Given the description of an element on the screen output the (x, y) to click on. 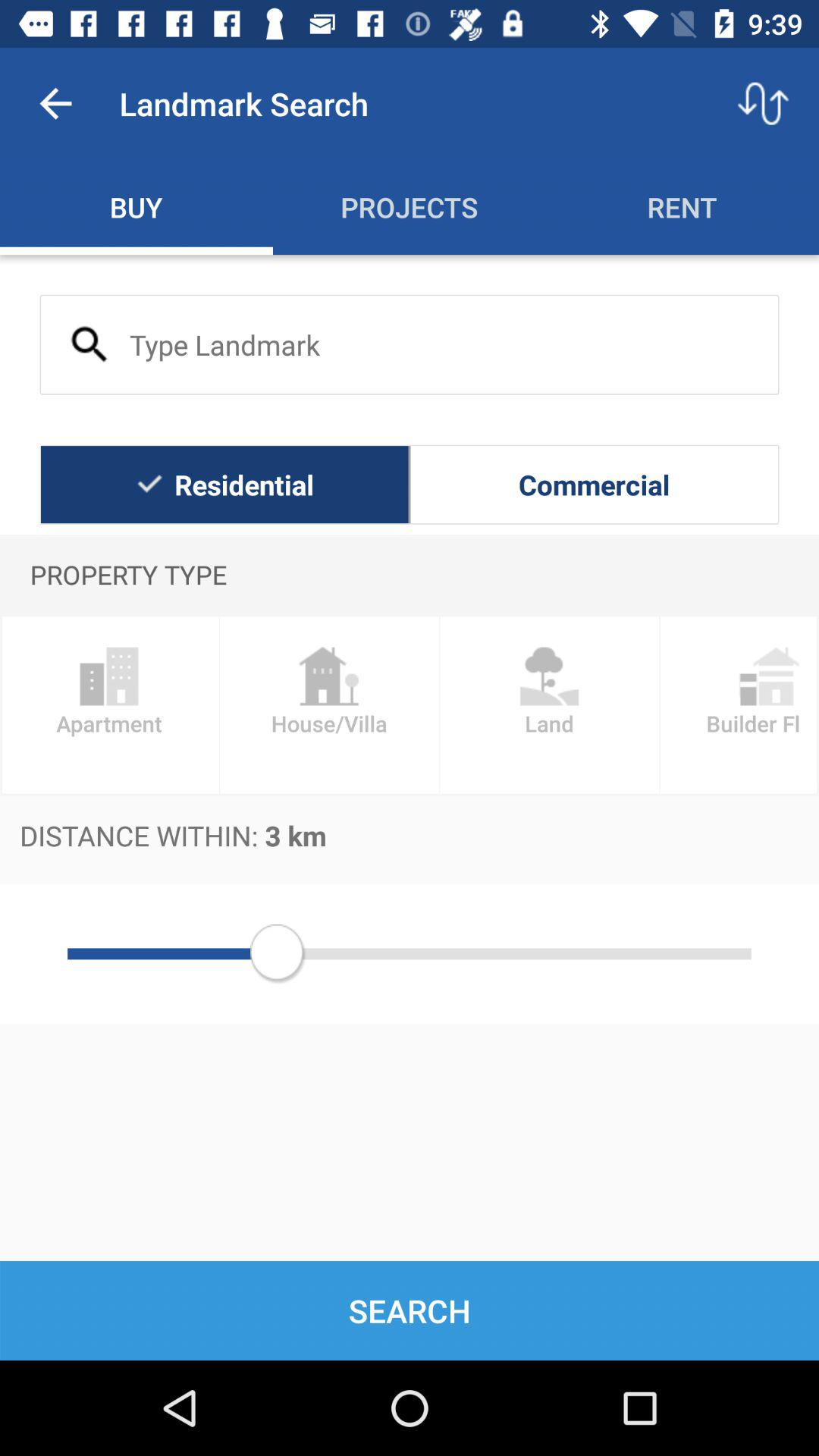
landmark input box (409, 344)
